Given the description of an element on the screen output the (x, y) to click on. 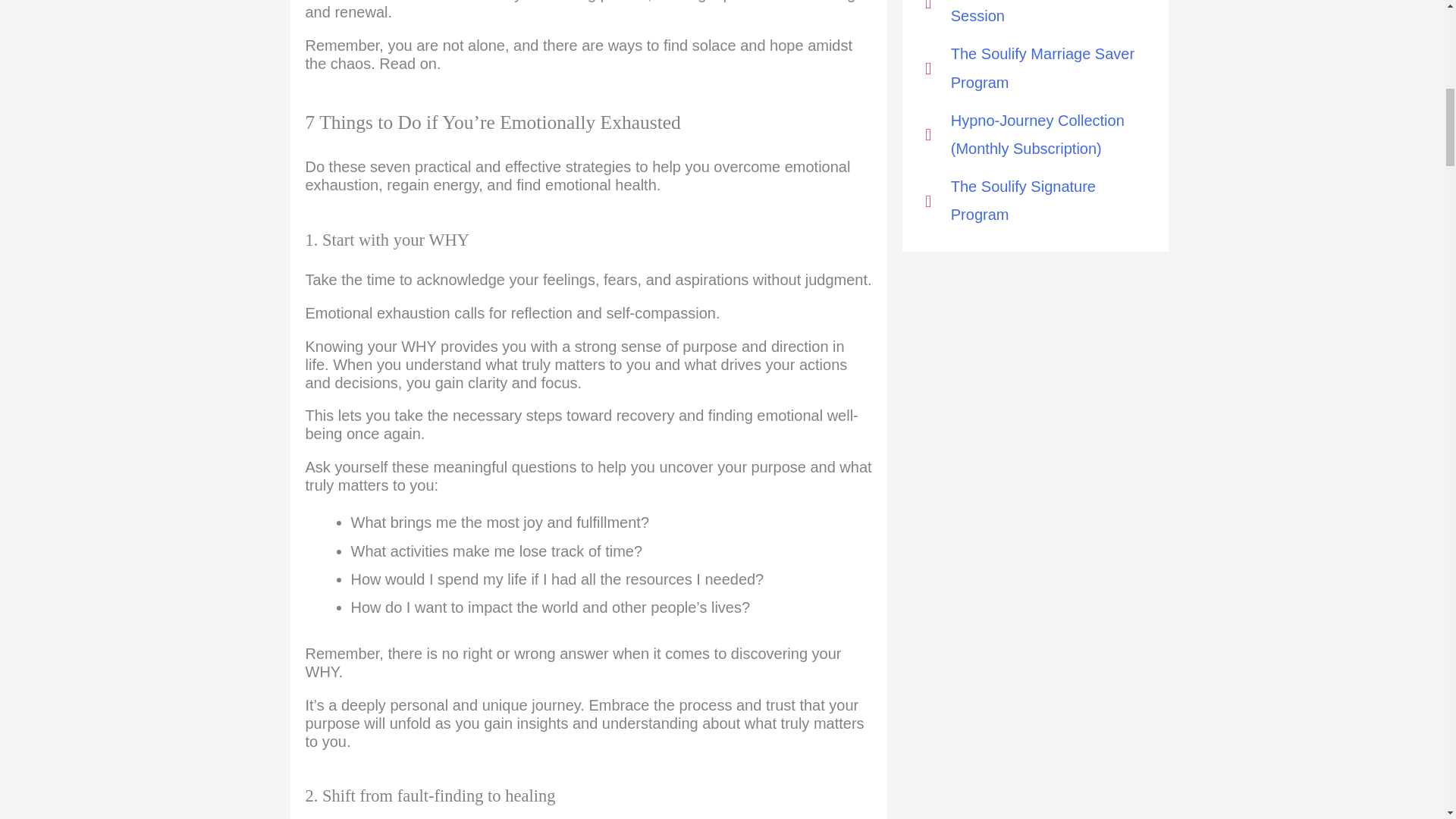
The Soulify Signature Program (1034, 200)
Book a Private Hypnosis Session (1034, 15)
The Soulify Marriage Saver Program (1034, 68)
